Given the description of an element on the screen output the (x, y) to click on. 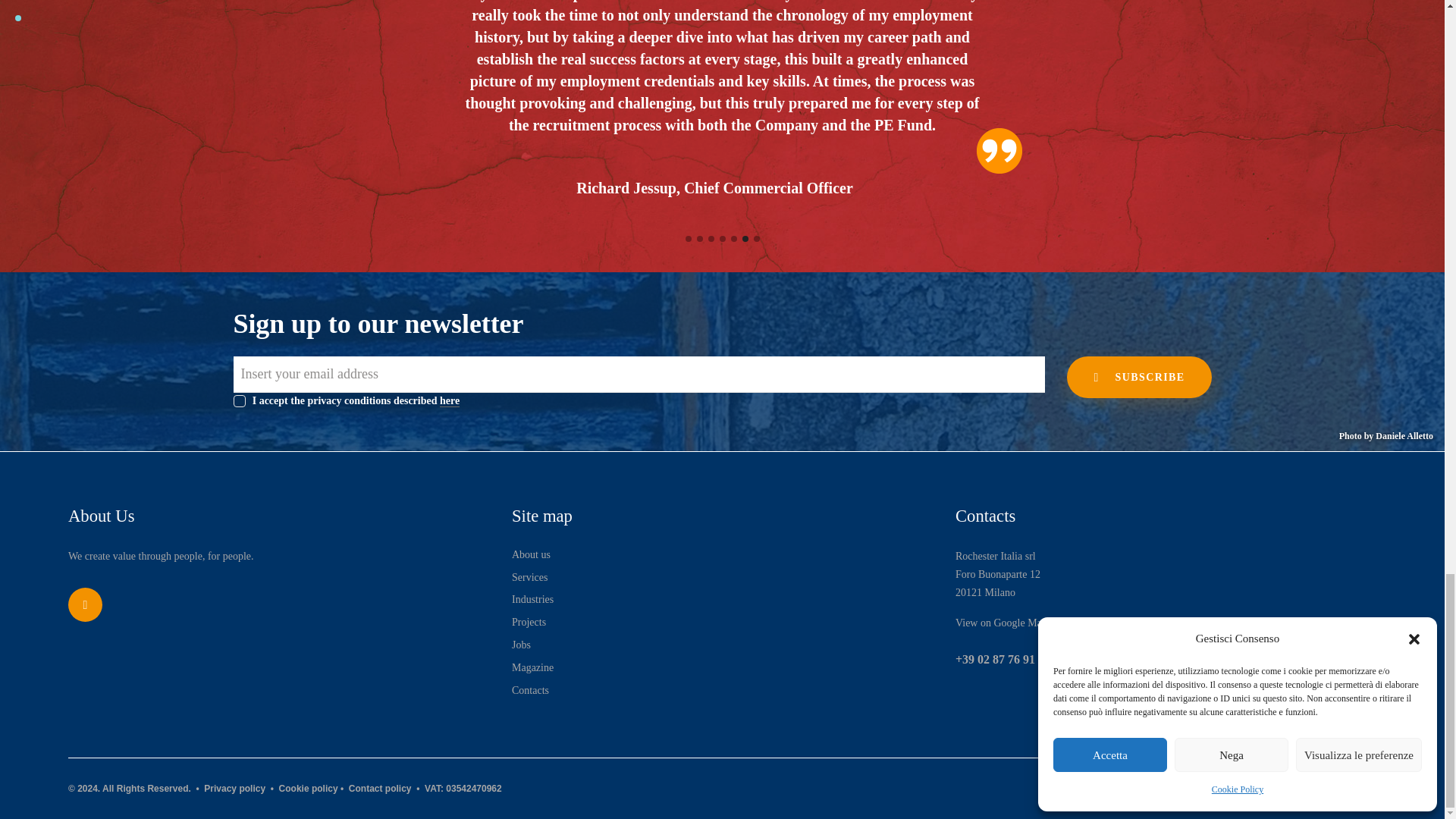
Subscribe (1139, 377)
1 (237, 397)
